Given the description of an element on the screen output the (x, y) to click on. 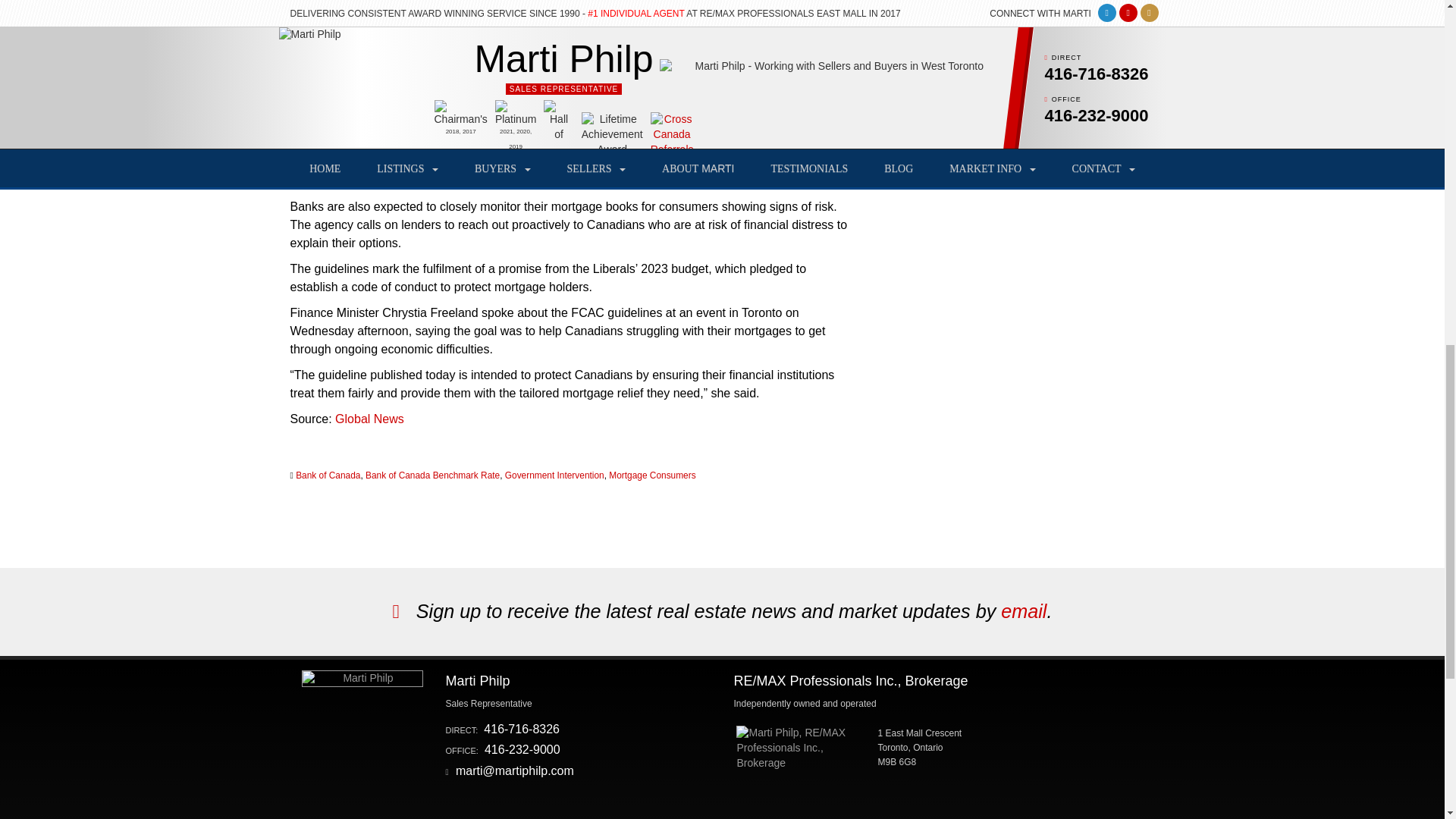
Marti Philp (362, 678)
Bank of Canada (327, 475)
Global News (369, 418)
